Given the description of an element on the screen output the (x, y) to click on. 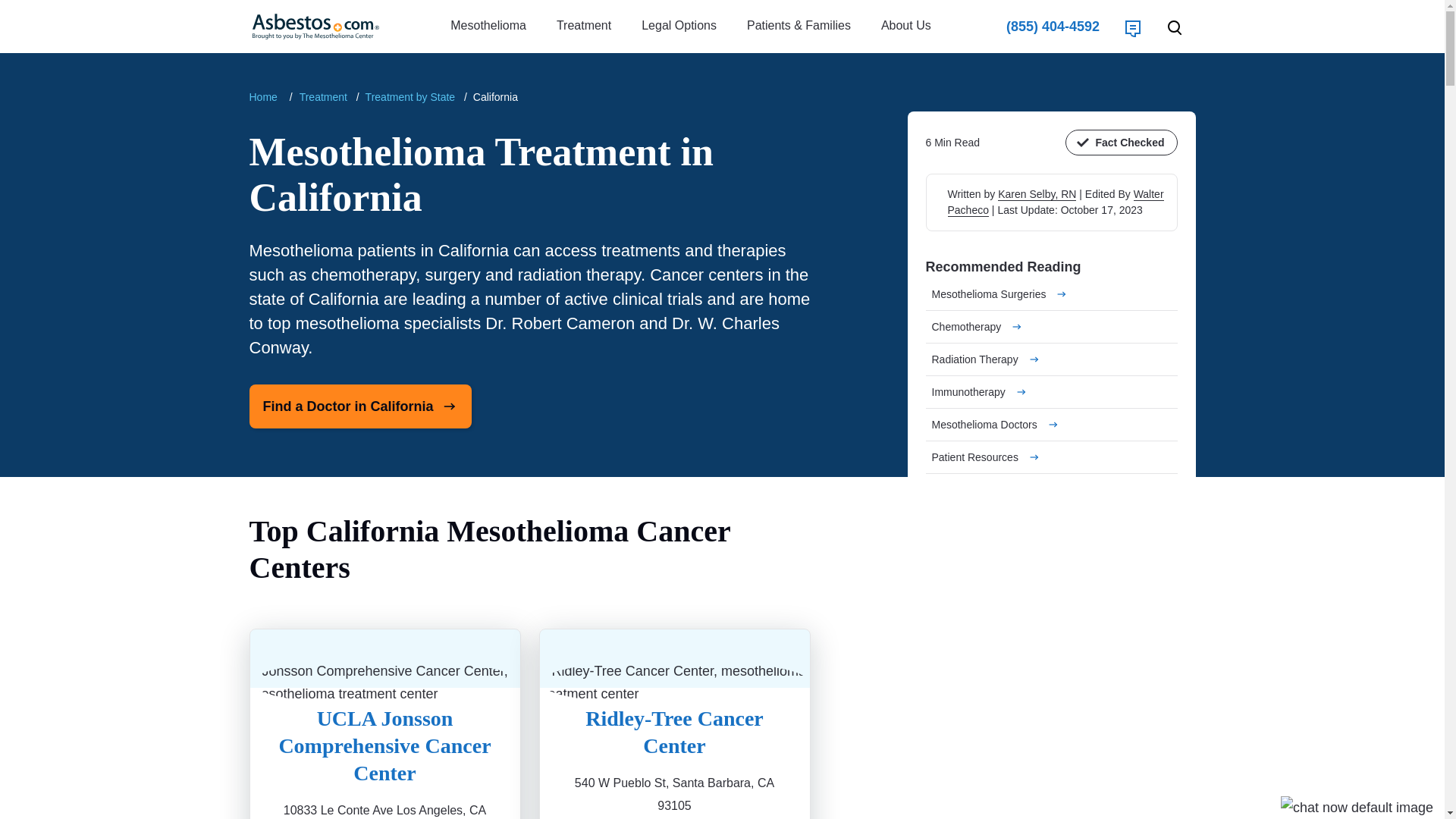
Mesothelioma (487, 25)
Treatment (583, 25)
Mesothelioma Center (265, 96)
